Given the description of an element on the screen output the (x, y) to click on. 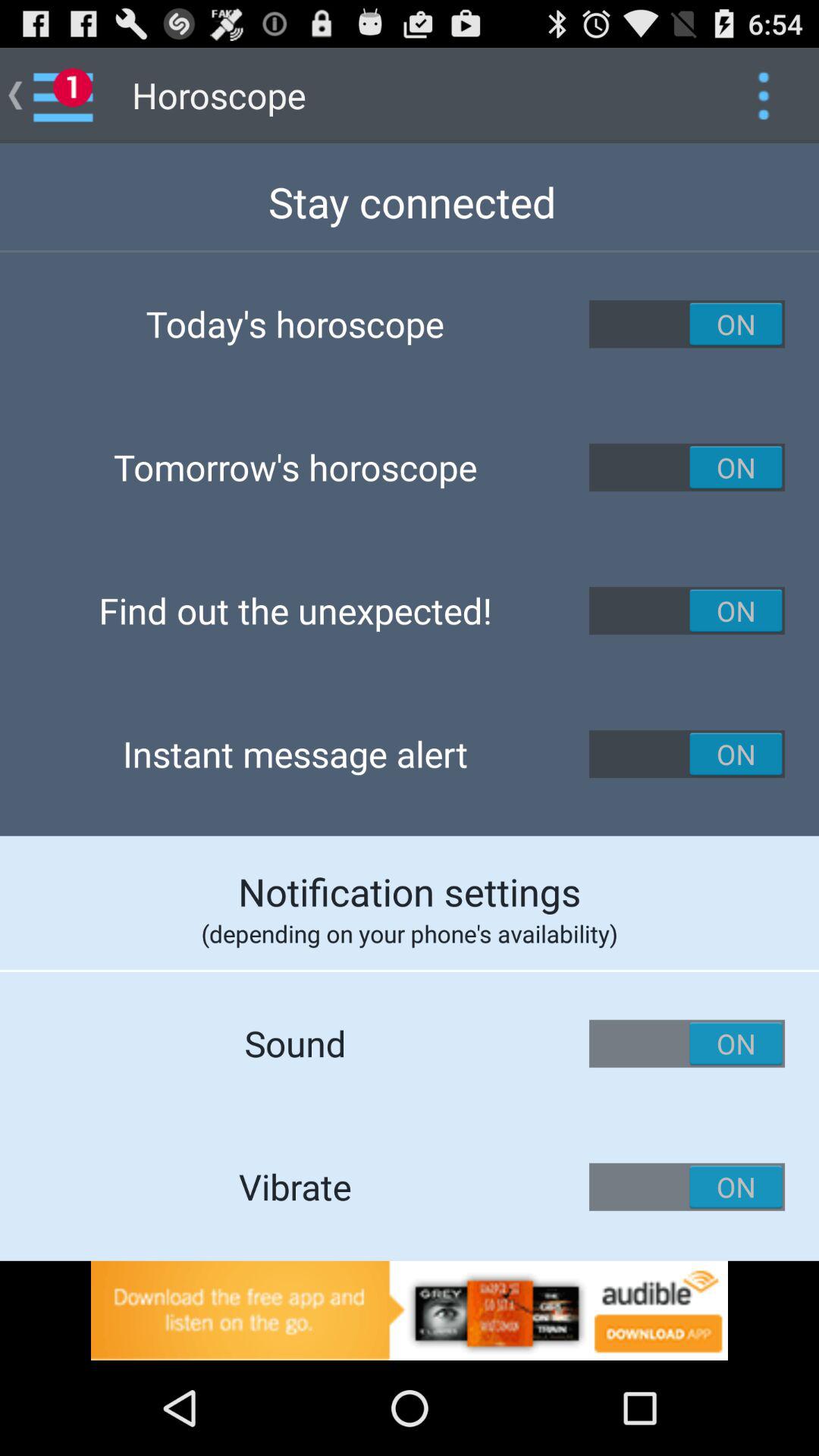
advertisement (409, 1310)
